Given the description of an element on the screen output the (x, y) to click on. 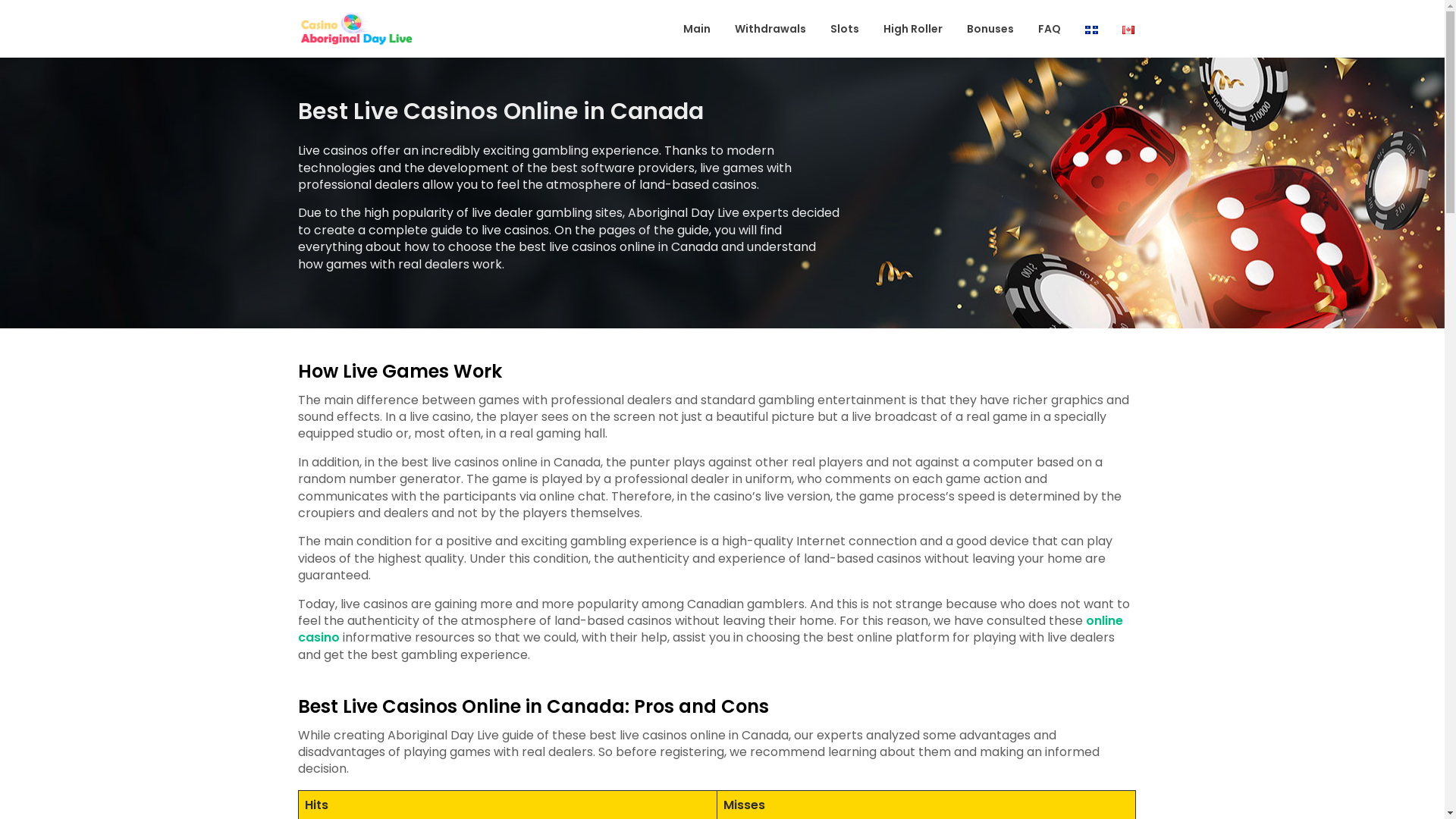
Bonuses Element type: text (990, 28)
online casino Element type: text (709, 628)
Casino Aboriginal Day Live Element type: text (467, 43)
Slots Element type: text (844, 28)
FAQ Element type: text (1049, 28)
Main Element type: text (696, 28)
Withdrawals Element type: text (770, 28)
High Roller Element type: text (912, 28)
